Given the description of an element on the screen output the (x, y) to click on. 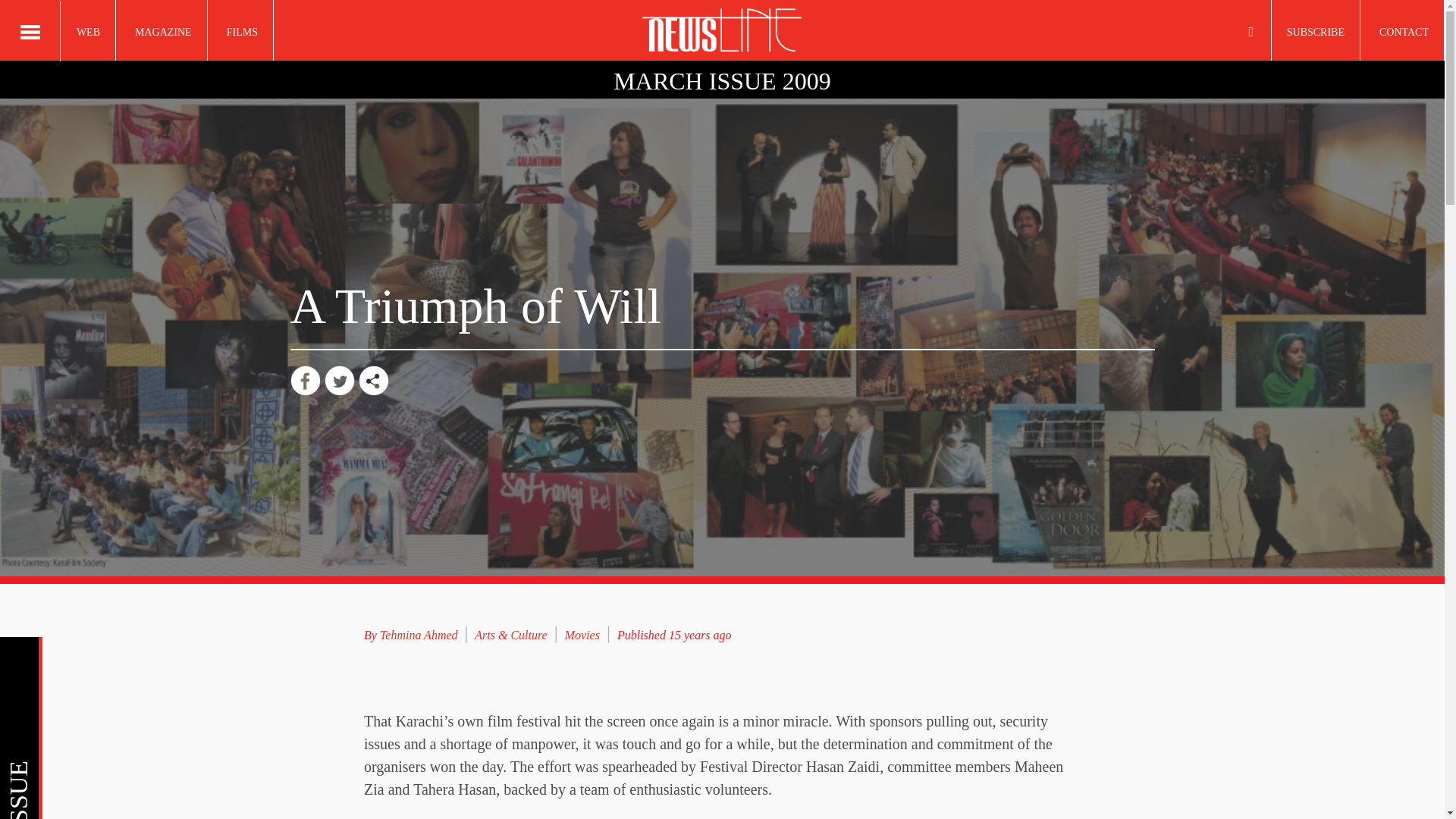
Twitter (339, 380)
Facebook (304, 380)
MAGAZINE (163, 30)
IN THIS ISSUE (207, 658)
FILMS (242, 30)
SUBSCRIBE (1315, 30)
Newsline (722, 29)
WEB (88, 30)
